Given the description of an element on the screen output the (x, y) to click on. 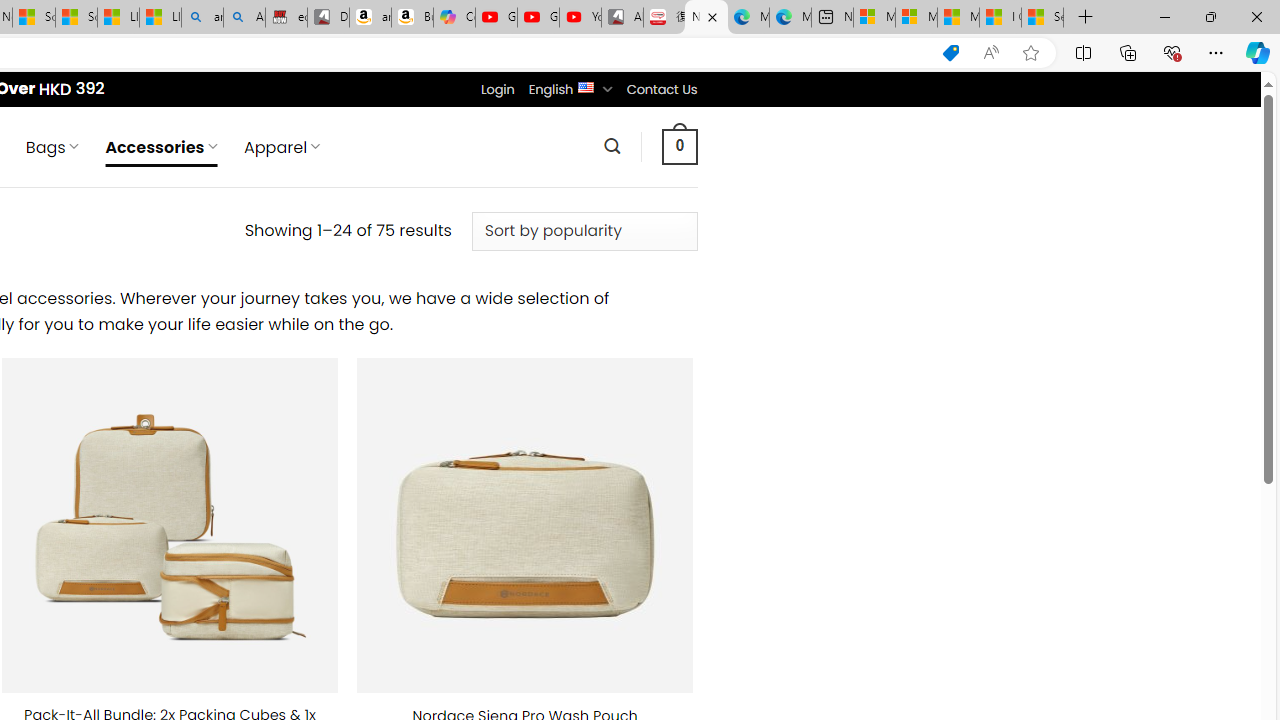
Login (497, 89)
Microsoft account | Privacy (916, 17)
YouTube Kids - An App Created for Kids to Explore Content (580, 17)
  0   (679, 146)
amazon - Search (201, 17)
I Gained 20 Pounds of Muscle in 30 Days! | Watch (1000, 17)
